Given the description of an element on the screen output the (x, y) to click on. 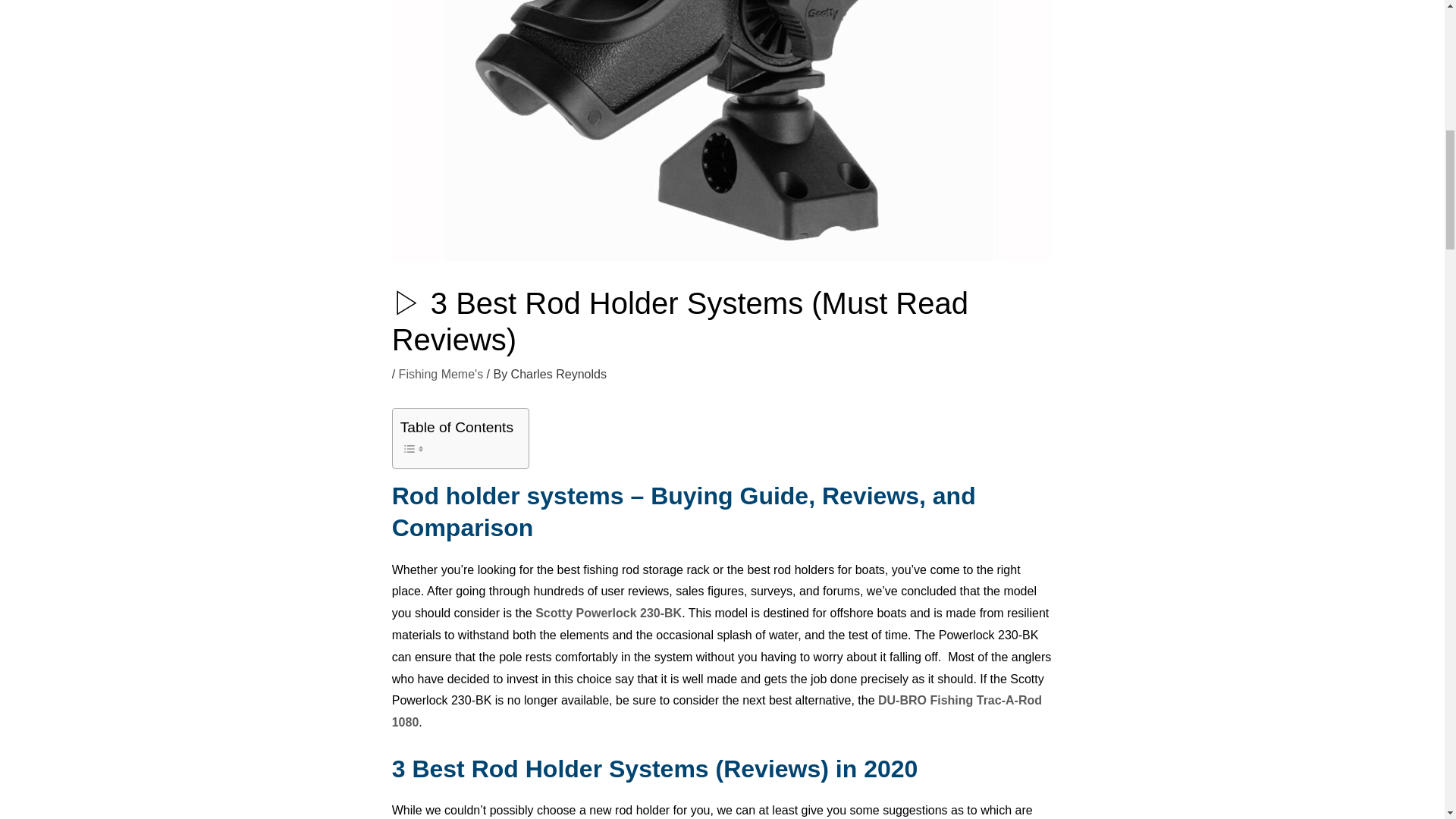
DU-BRO Fishing Trac-A-Rod 1080 (716, 710)
View all posts by Charles Reynolds (559, 373)
Charles Reynolds (559, 373)
Scotty Powerlock 230-BK (608, 612)
Fishing Meme's (440, 373)
